Given the description of an element on the screen output the (x, y) to click on. 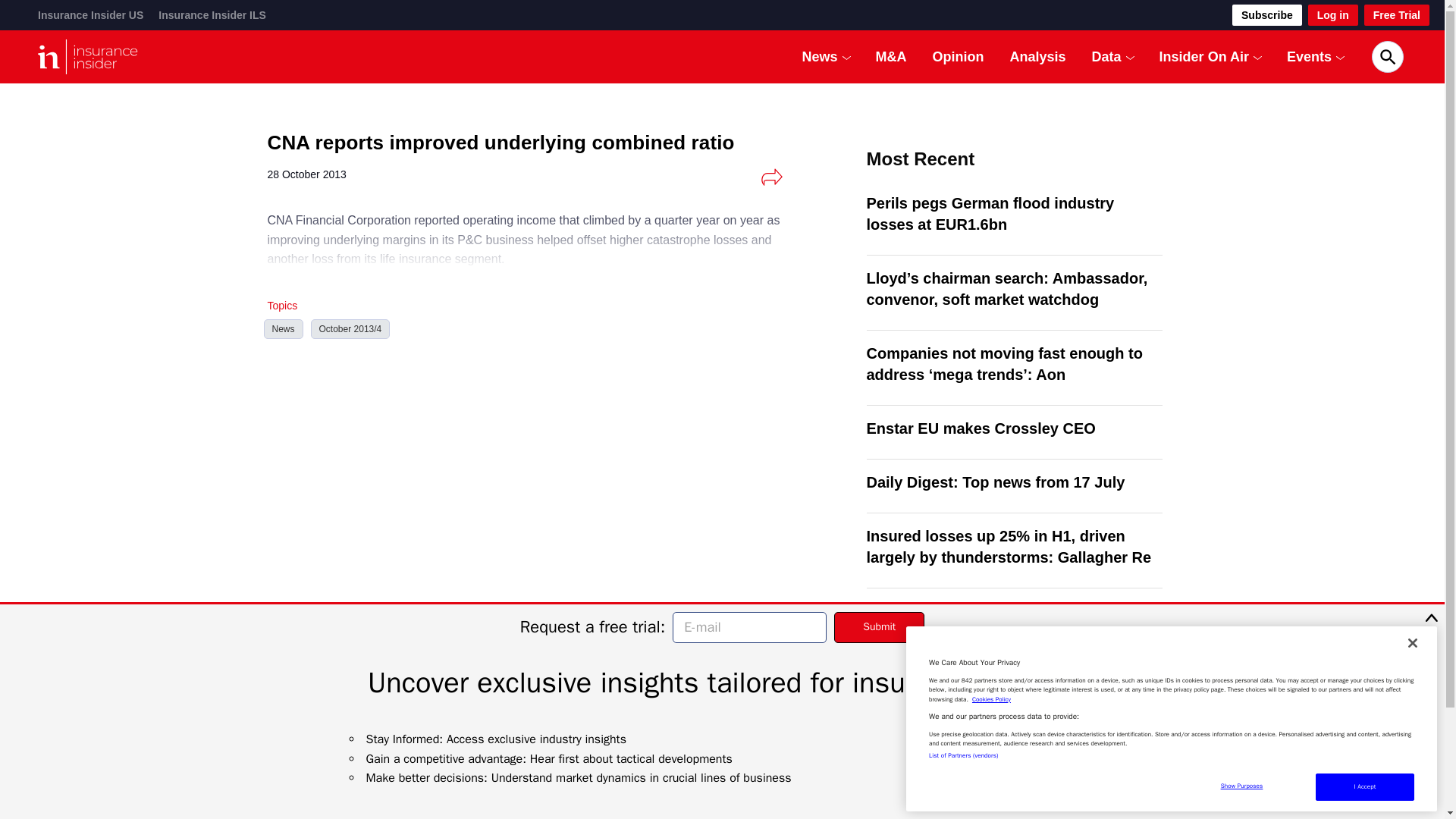
Submit (879, 626)
Free Trial (1396, 14)
Share (771, 177)
Insurance Insider ILS (212, 14)
Analysis (1037, 56)
Log in (1332, 14)
Insurance Insider US (89, 14)
Opinion (958, 56)
Subscribe (1266, 14)
News (820, 56)
